Given the description of an element on the screen output the (x, y) to click on. 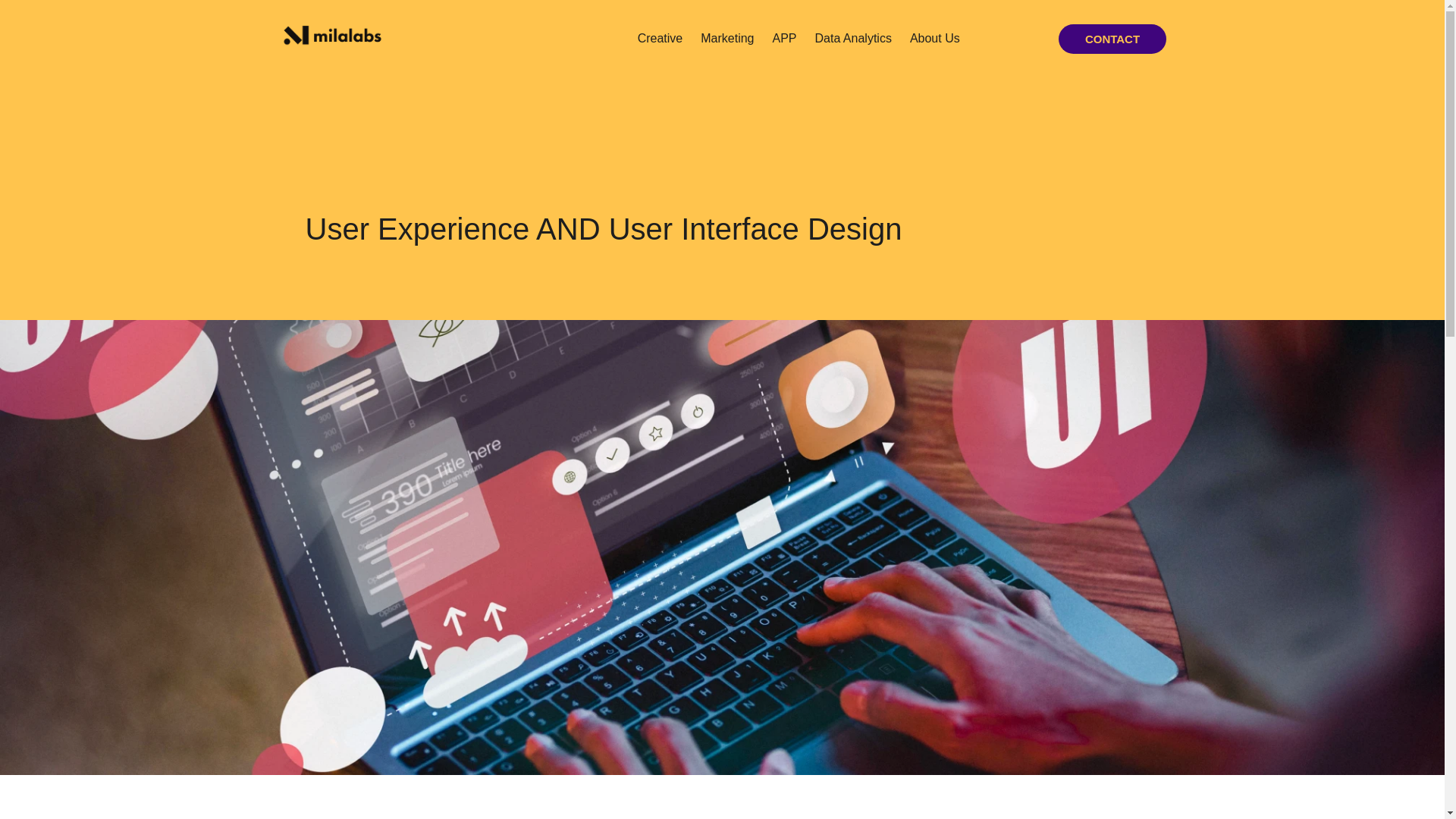
Data Analytics (852, 38)
About Us (935, 38)
Creative (660, 38)
APP (783, 38)
CONTACT (1112, 39)
Marketing (726, 38)
